Given the description of an element on the screen output the (x, y) to click on. 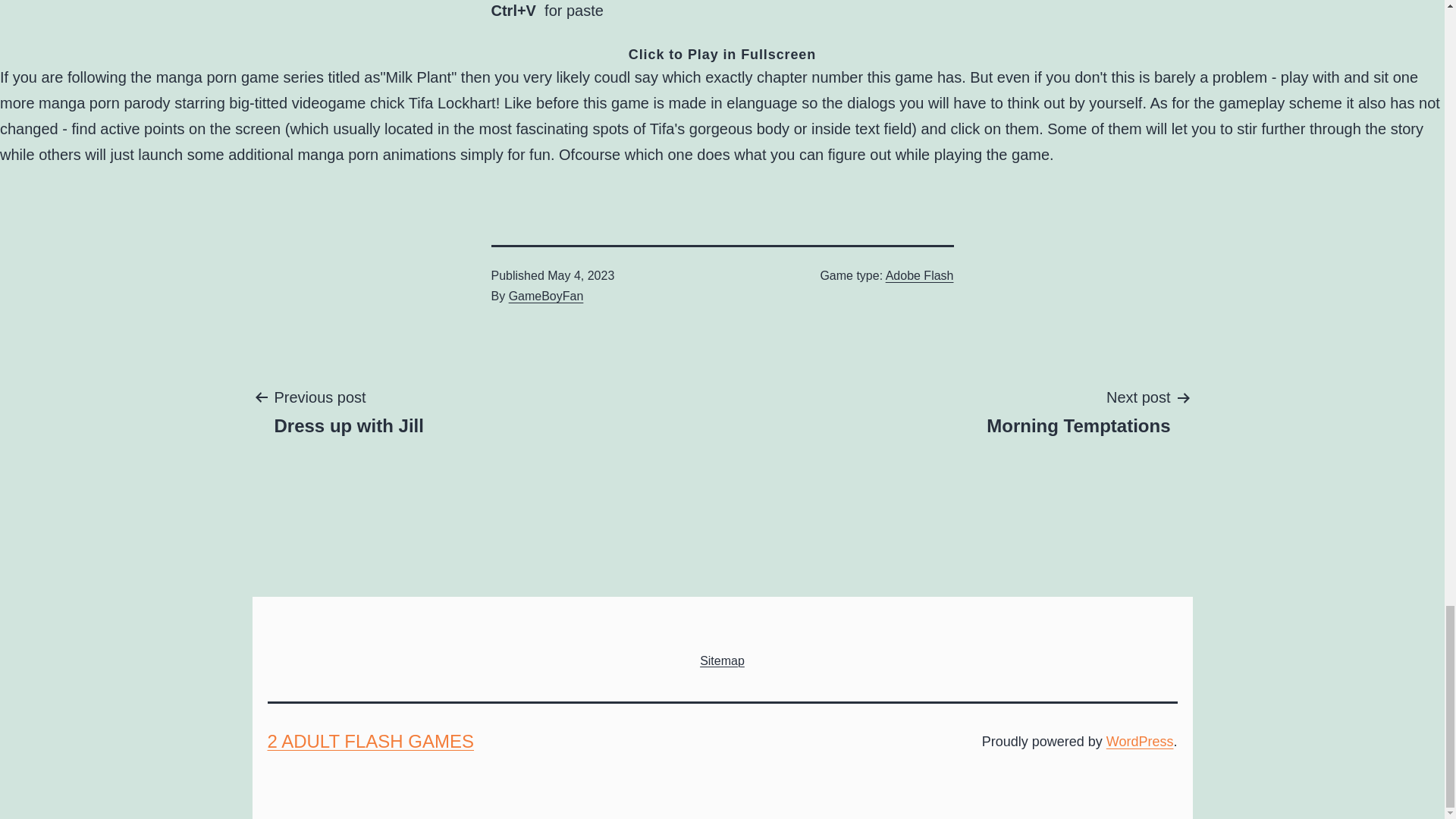
GameBoyFan (545, 295)
2 ADULT FLASH GAMES (370, 741)
WordPress (348, 410)
Adobe Flash (1139, 741)
Sitemap (919, 275)
